Given the description of an element on the screen output the (x, y) to click on. 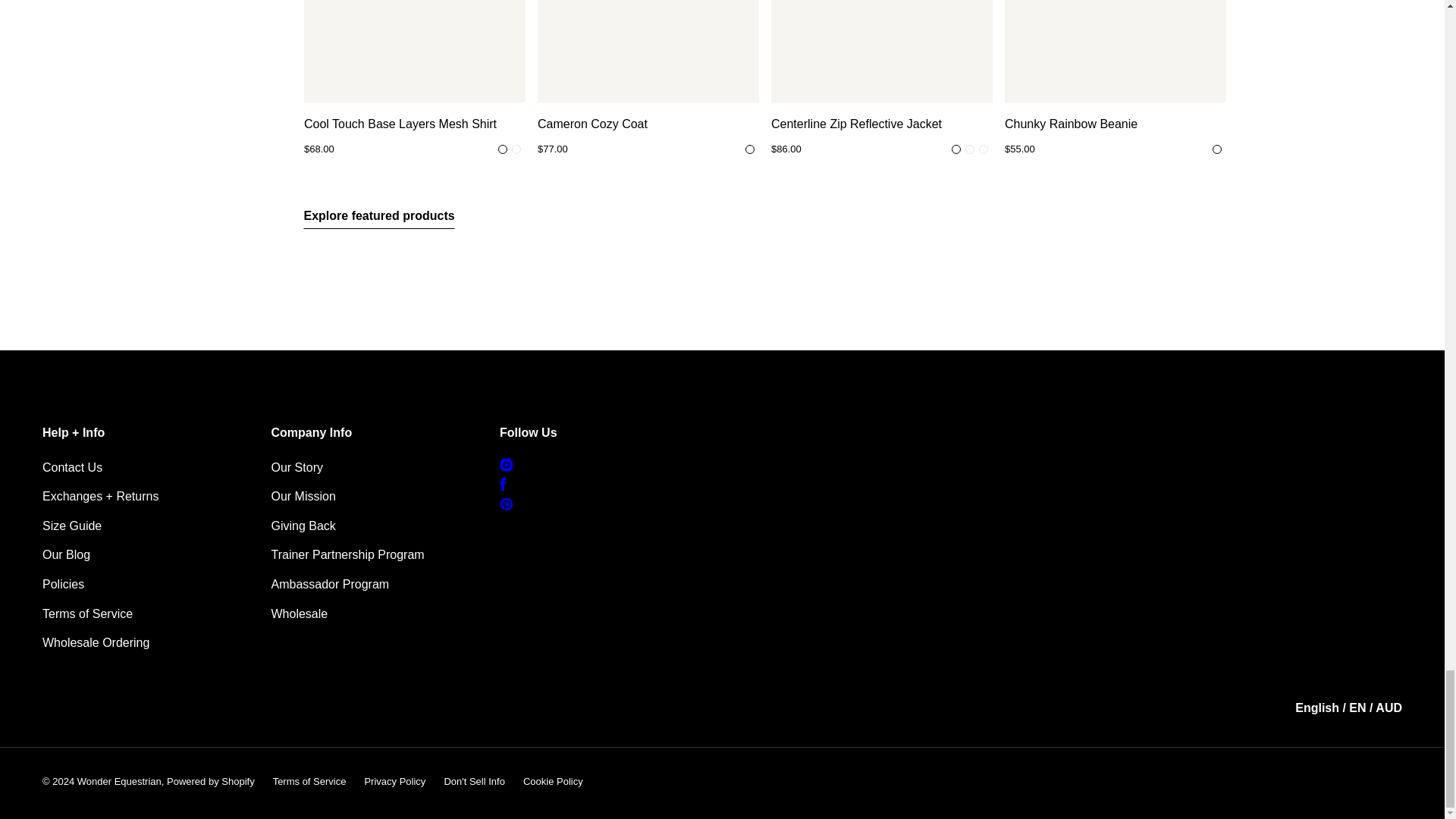
Cool Touch Base Layers Mesh Shirt (413, 124)
Cool Touch Base Layers Mesh Shirt (413, 51)
Chunky Rainbow Beanie (1114, 51)
Cameron Cozy Coat (647, 124)
Centerline Zip Reflective Jacket (880, 51)
Cameron Cozy Coat (647, 51)
Centerline Zip Reflective Jacket (880, 124)
